Given the description of an element on the screen output the (x, y) to click on. 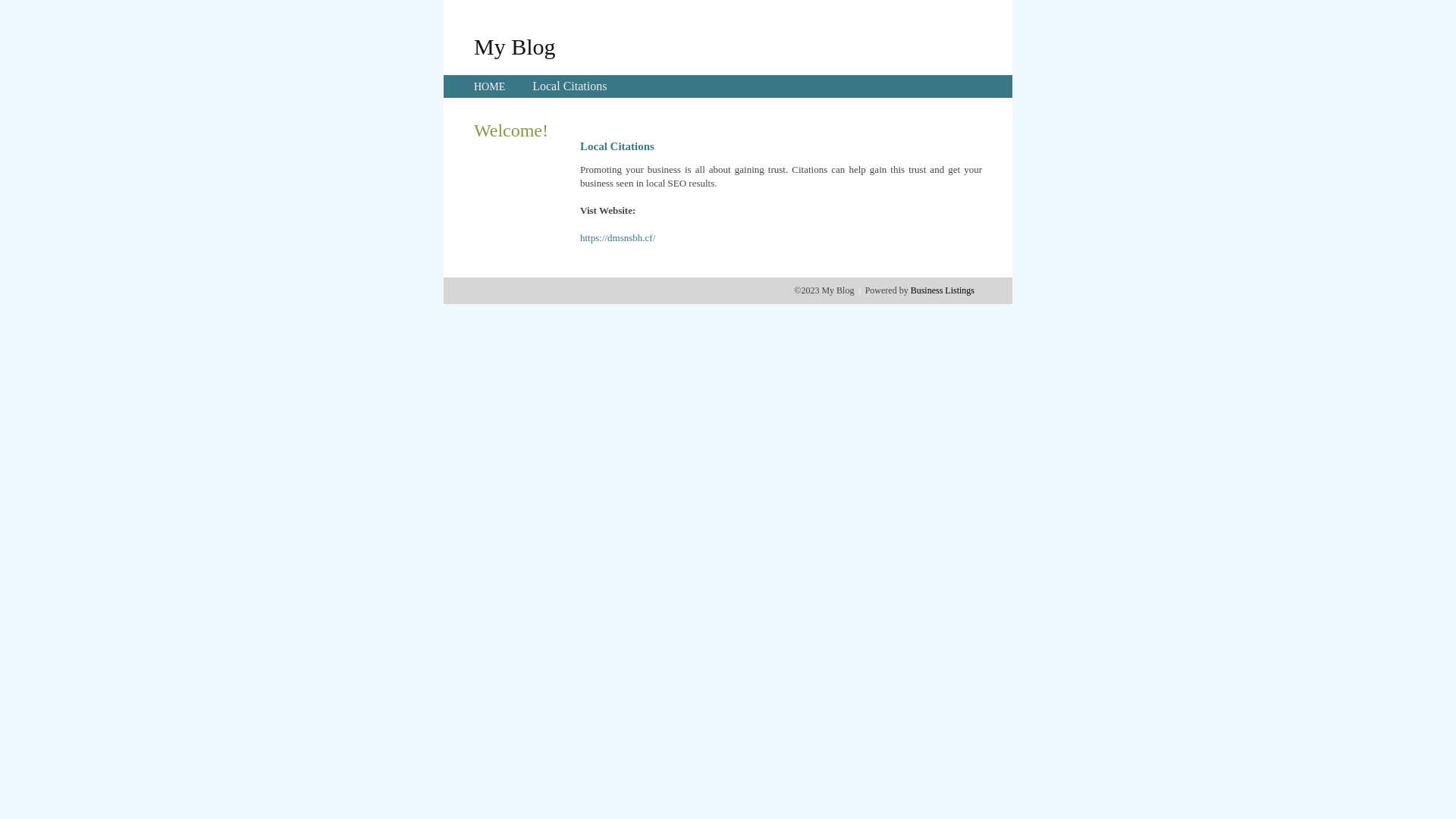
https://dmsnsbh.cf/ Element type: text (617, 237)
Business Listings Element type: text (942, 290)
My Blog Element type: text (514, 46)
HOME Element type: text (489, 86)
Local Citations Element type: text (569, 85)
